Given the description of an element on the screen output the (x, y) to click on. 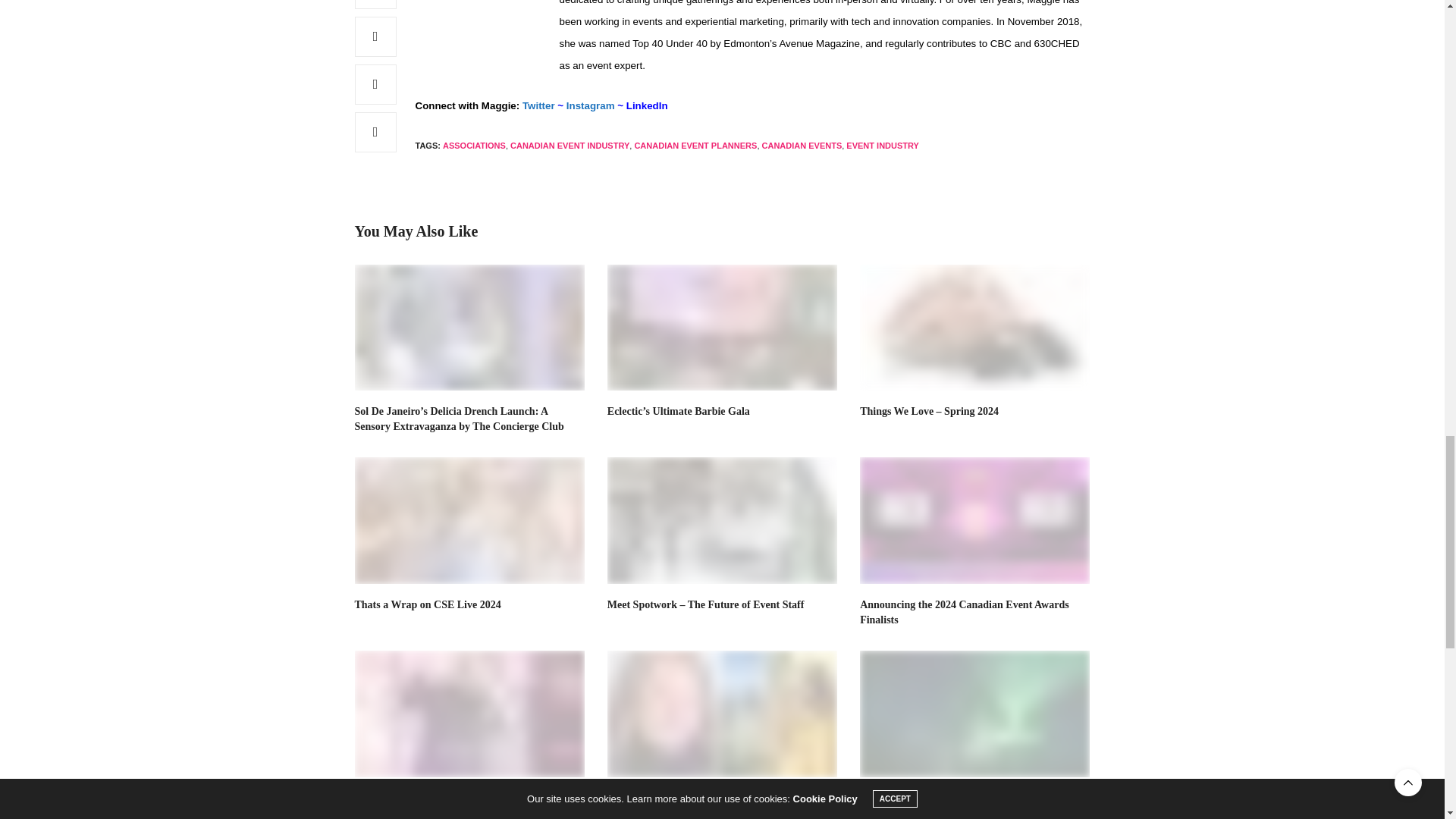
Thats a Wrap on CSE Live 2024 (427, 604)
Announcing the 2024 Canadian Event Awards Finalists (974, 520)
Thats a Wrap on CSE Live 2024 (470, 520)
